Given the description of an element on the screen output the (x, y) to click on. 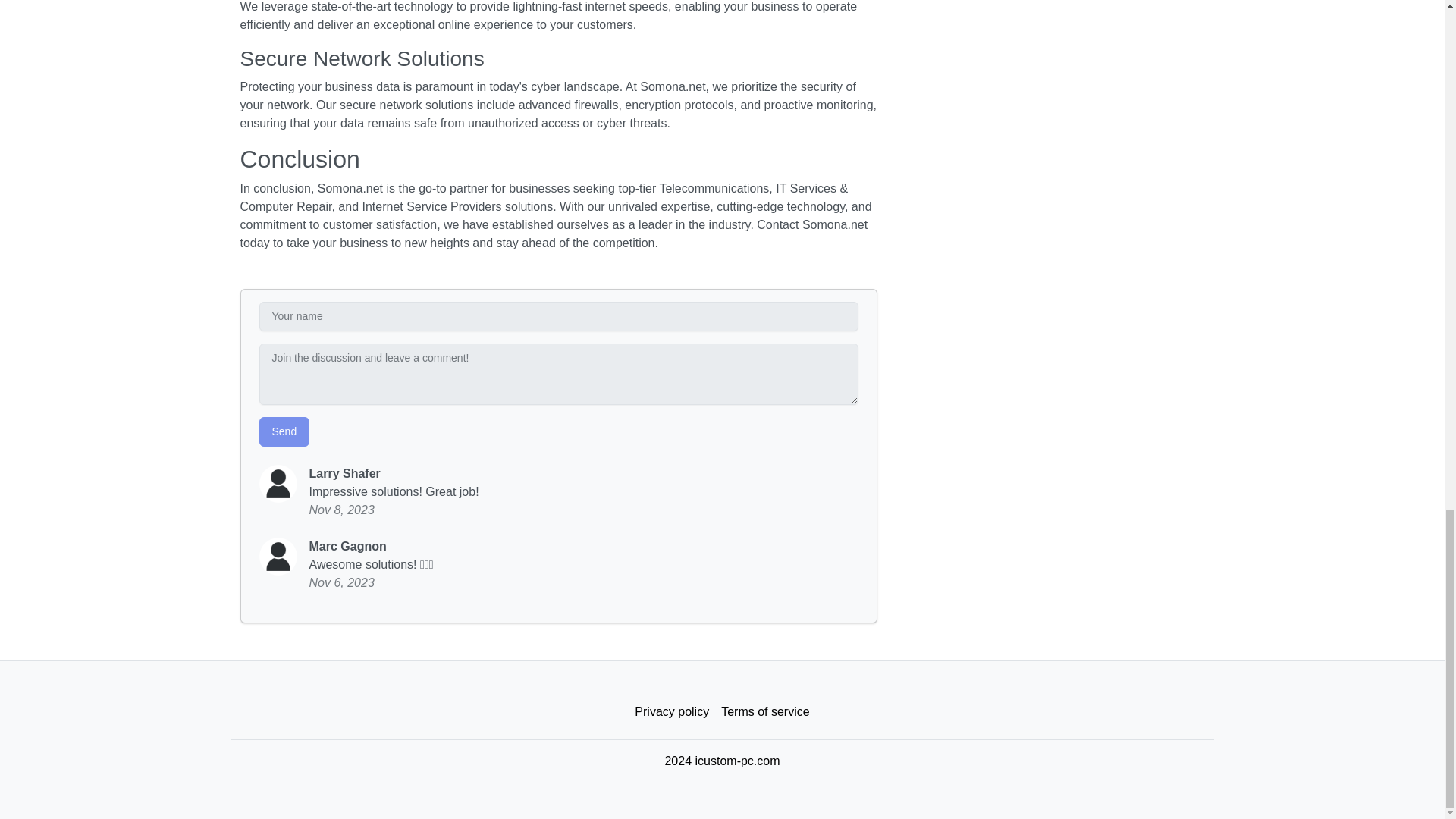
Privacy policy (671, 711)
Terms of service (764, 711)
Send (284, 431)
Send (284, 431)
